Given the description of an element on the screen output the (x, y) to click on. 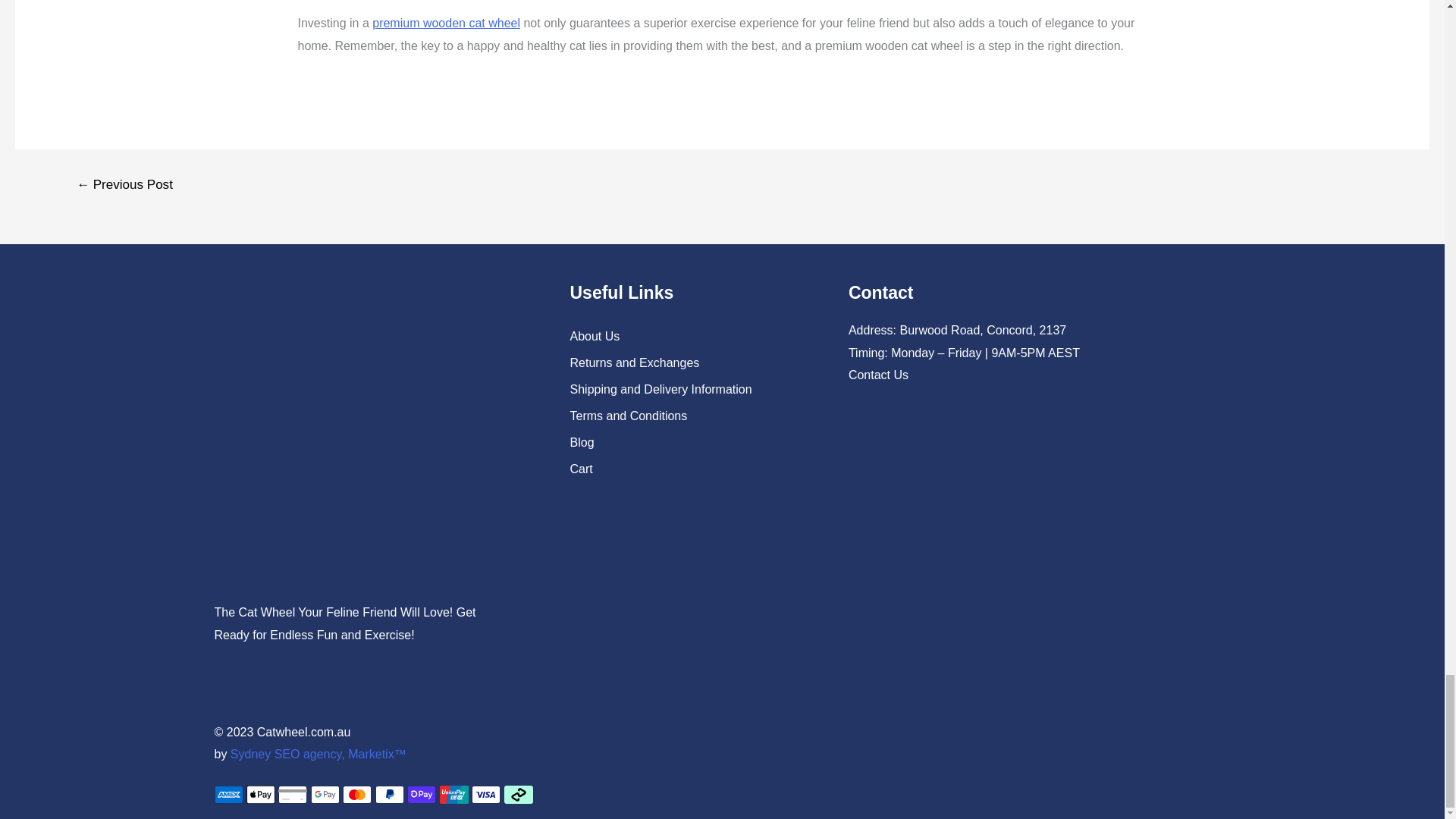
Union Pay (453, 794)
Shop Pay (421, 794)
premium wooden cat wheel (445, 22)
Contact Us (878, 374)
Returns and Exchanges (686, 362)
Mastercard (356, 794)
Terms and Conditions (686, 416)
Apple Pay (260, 794)
Cart (686, 469)
Blog (686, 442)
Visa (485, 794)
American Express (228, 794)
premium wooden cat wheel (445, 22)
About Us (686, 336)
Shipping and Delivery Information (686, 389)
